Given the description of an element on the screen output the (x, y) to click on. 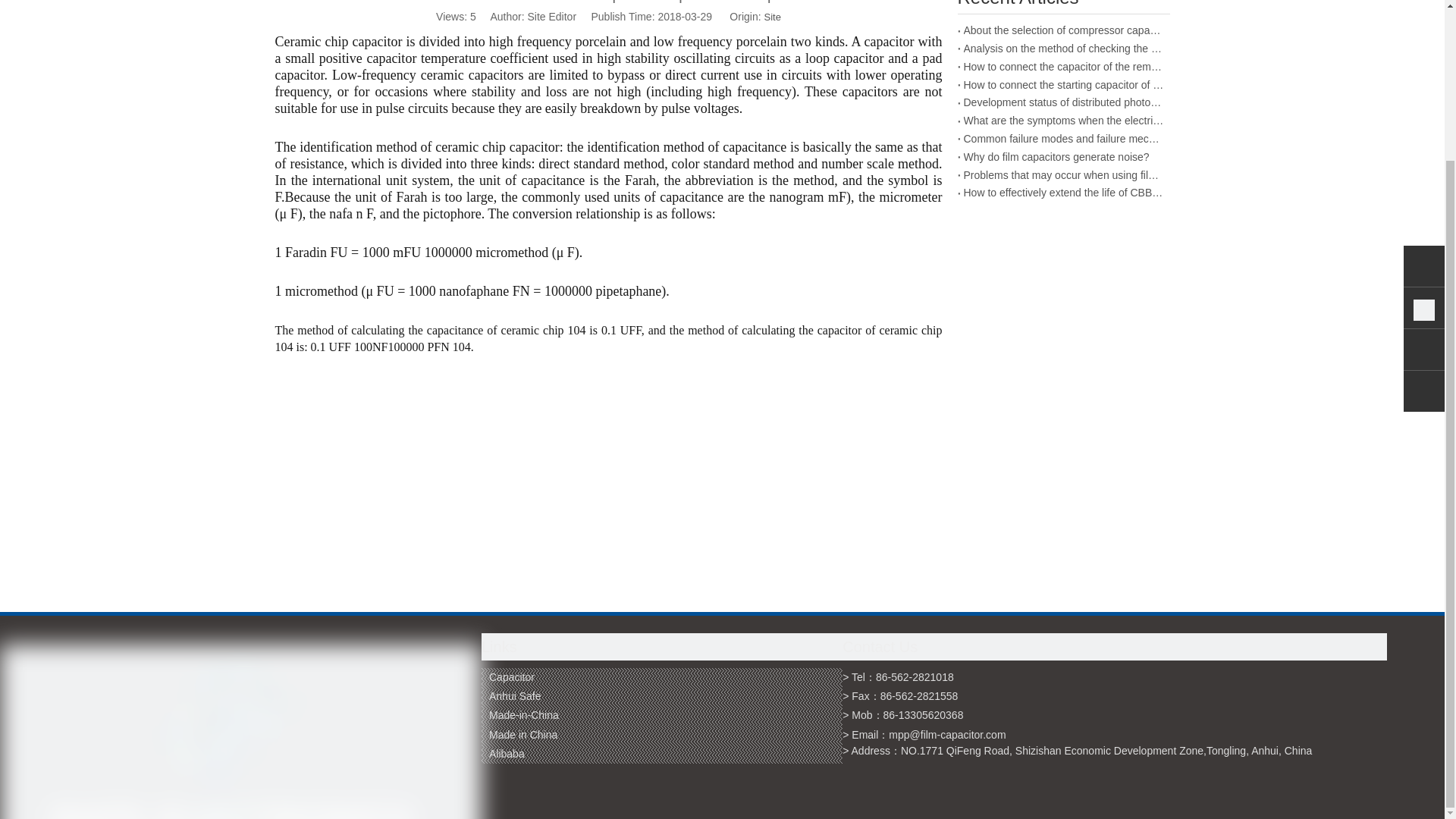
About the selection of compressor capacitors (1062, 31)
Analysis on the method of checking the compressor capacitor (1062, 49)
Common failure modes and failure mechanisms of capacitors (1062, 139)
How to effectively extend the life of CBB capacitors (1062, 193)
Problems that may occur when using film capacitors (1062, 176)
Why do film capacitors generate noise? (1062, 157)
